Given the description of an element on the screen output the (x, y) to click on. 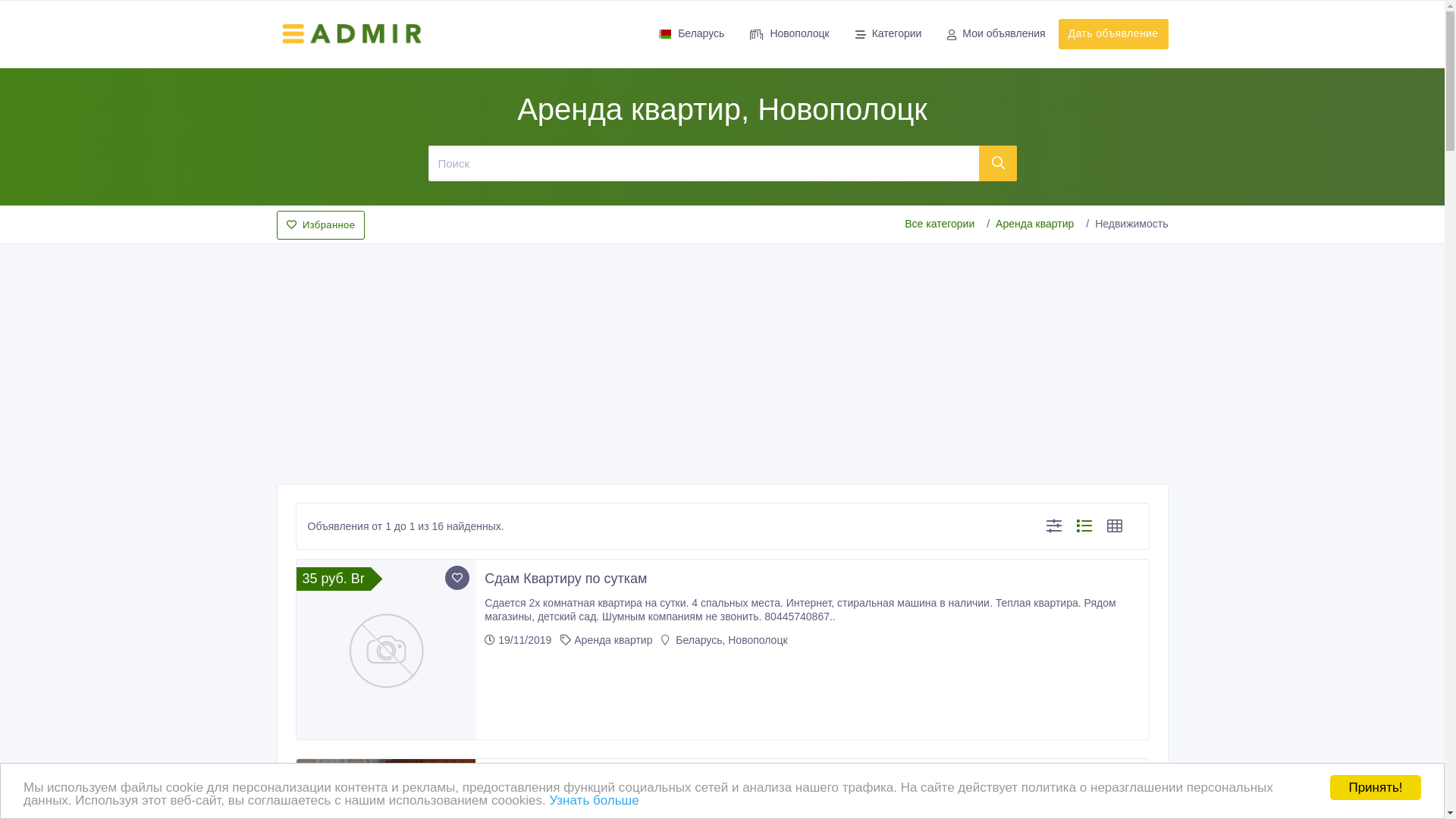
Advertisement Element type: hover (721, 359)
Add to favorite Element type: hover (457, 777)
Add to favorite Element type: hover (457, 577)
